Given the description of an element on the screen output the (x, y) to click on. 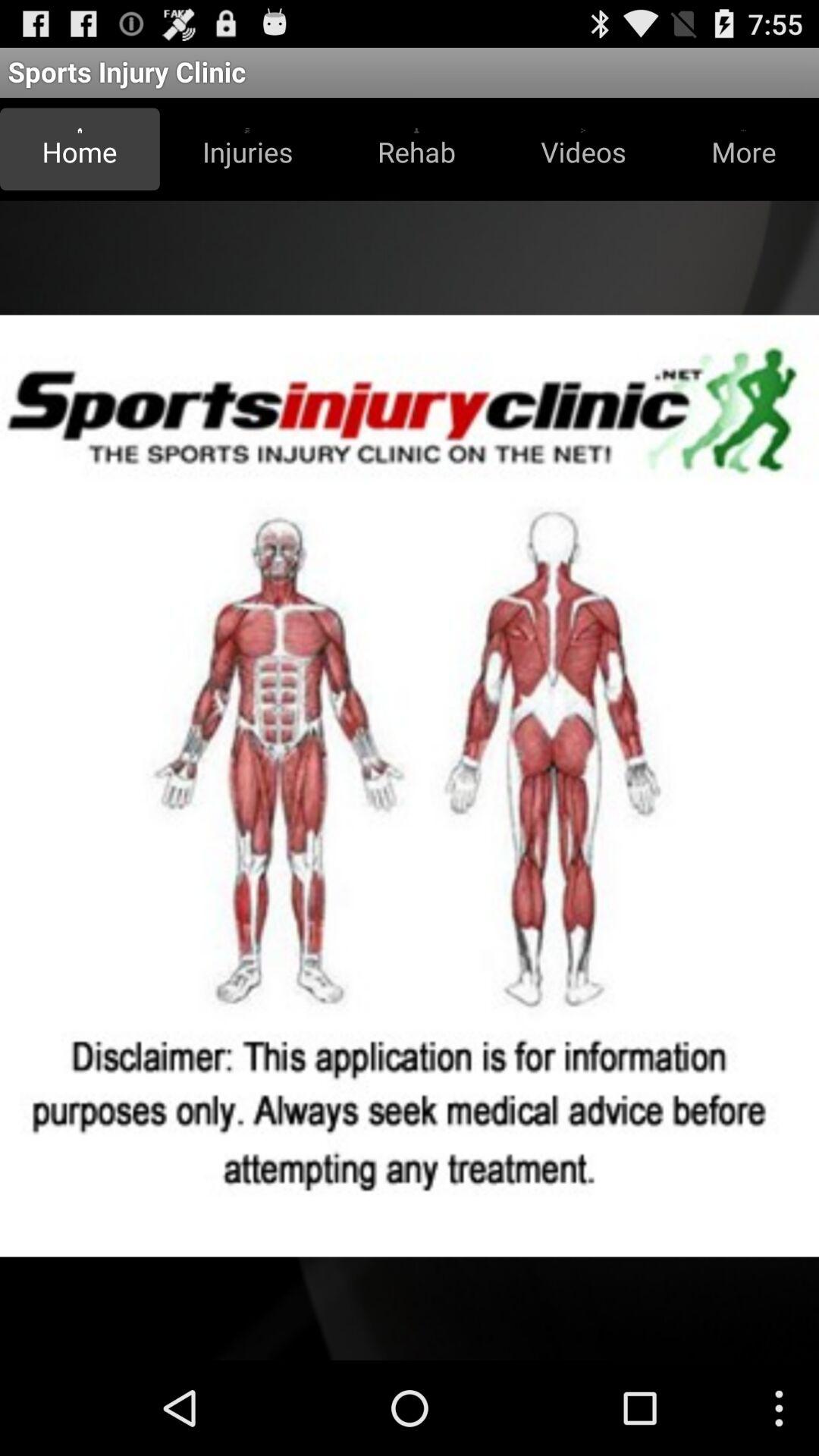
turn off the rehab item (416, 149)
